Given the description of an element on the screen output the (x, y) to click on. 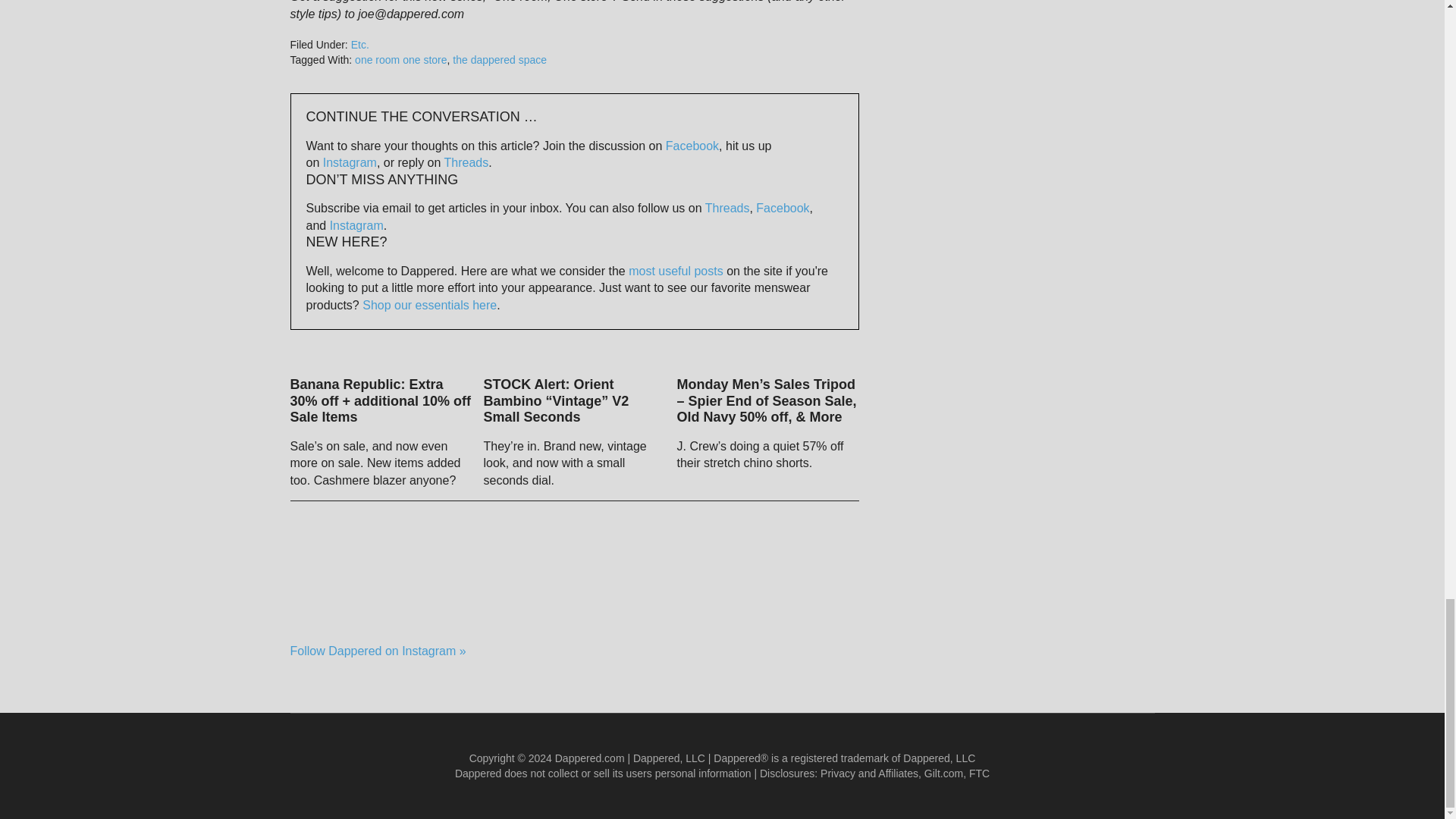
Etc. (359, 44)
Instagram (357, 225)
one room one store (400, 60)
Shop our essentials here (429, 305)
Facebook (782, 207)
most useful posts (675, 270)
the dappered space (499, 60)
Facebook (692, 145)
Threads (726, 207)
Instagram (350, 162)
Threads (466, 162)
